Given the description of an element on the screen output the (x, y) to click on. 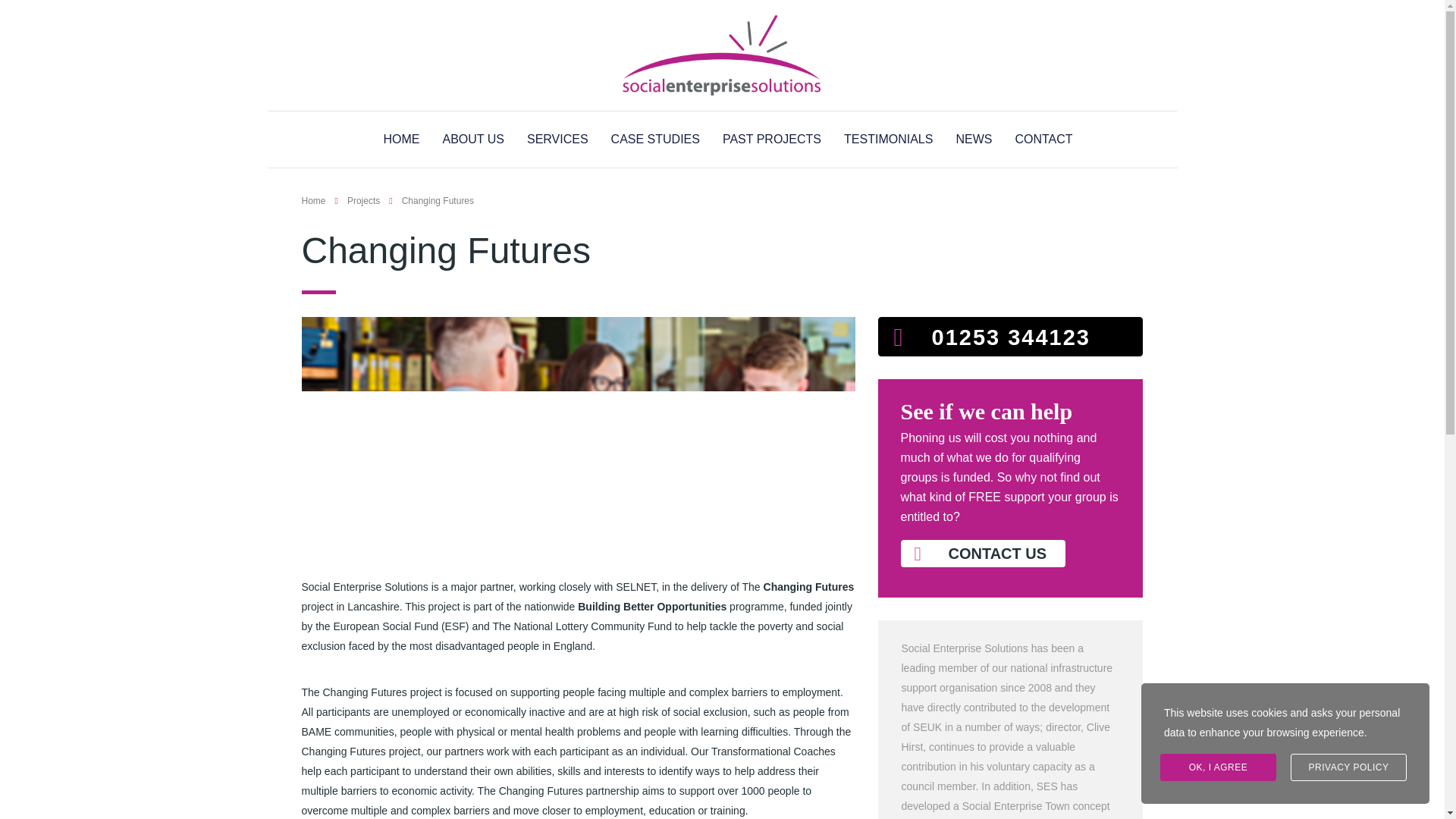
Contact (983, 553)
01253 344123 (1009, 336)
Go to Social Enterprise Solutions. (313, 200)
CASE STUDIES (655, 138)
ABOUT US (472, 138)
OK, I AGREE (1218, 767)
Home (313, 200)
Changing Futures Couple (578, 433)
TESTIMONIALS (888, 138)
PRIVACY POLICY (1348, 767)
CONTACT (1042, 138)
CONTACT US (983, 553)
PAST PROJECTS (771, 138)
Projects (363, 200)
SERVICES (557, 138)
